Given the description of an element on the screen output the (x, y) to click on. 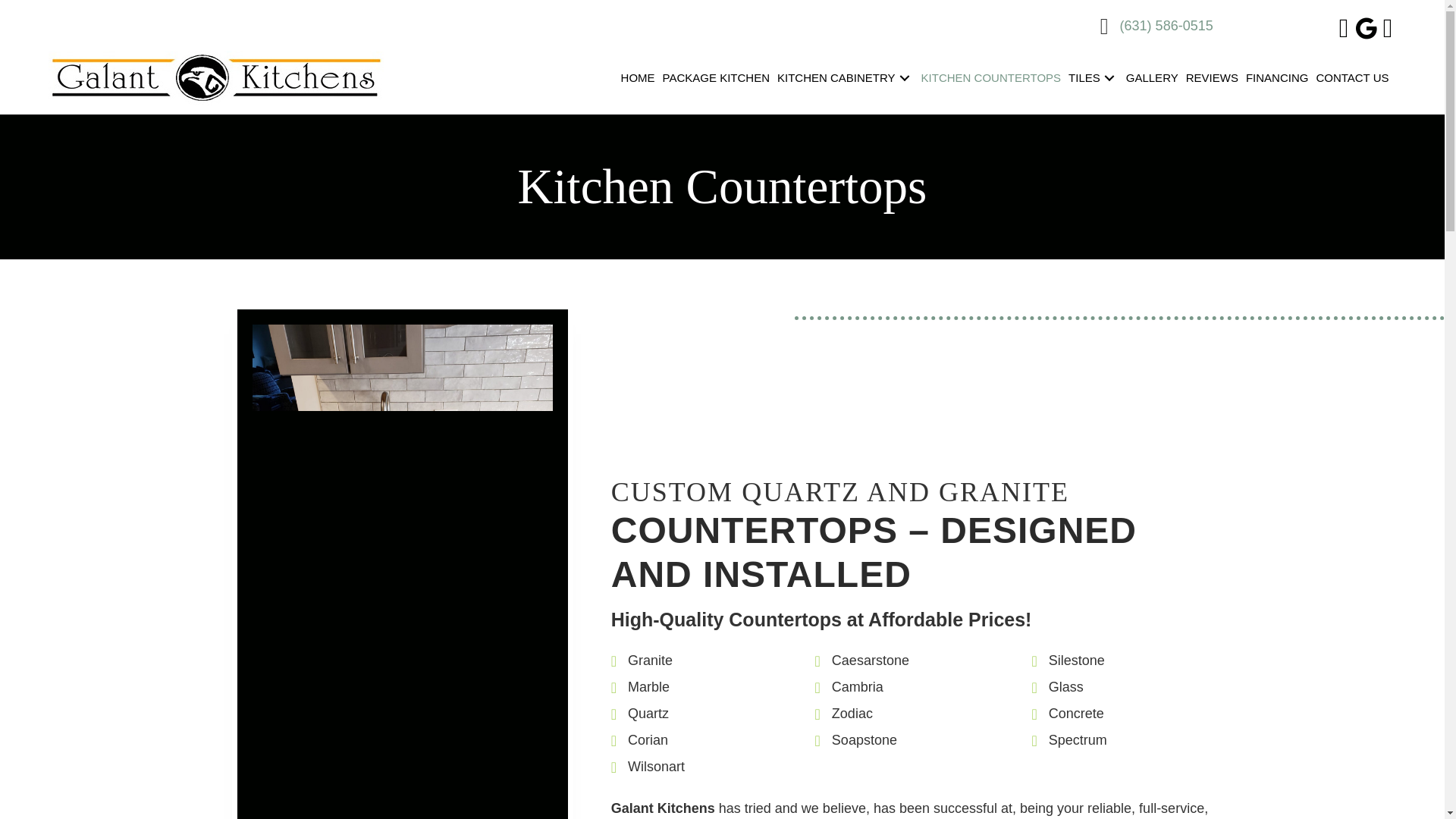
GALLERY (1155, 78)
Bar Sink Britanica (401, 436)
Water Fall Canbria Britanica (401, 699)
REVIEWS (1216, 78)
CONTACT US (1356, 78)
HOME (641, 78)
PACKAGE KITCHEN (719, 78)
TILES (1096, 78)
FINANCING (1281, 78)
KITCHEN CABINETRY (849, 78)
